Given the description of an element on the screen output the (x, y) to click on. 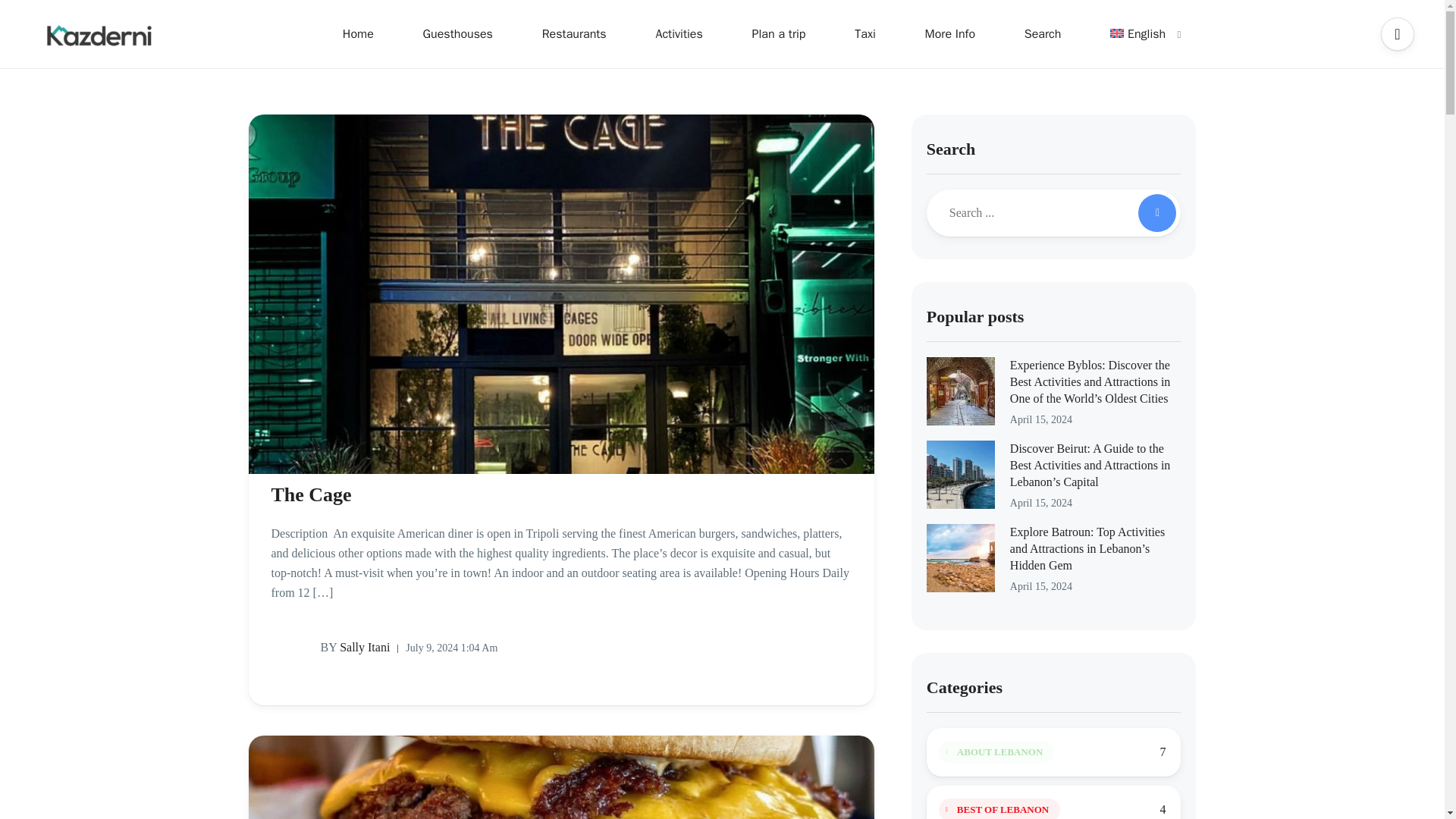
More Info (949, 33)
Restaurants (573, 33)
Guesthouses (457, 33)
Home (358, 33)
BY Sally Itani (330, 648)
The Cage (560, 494)
Activities (678, 33)
English (1137, 33)
English (1137, 33)
Taxi (864, 33)
Search (1042, 33)
Plan a trip (778, 33)
